Given the description of an element on the screen output the (x, y) to click on. 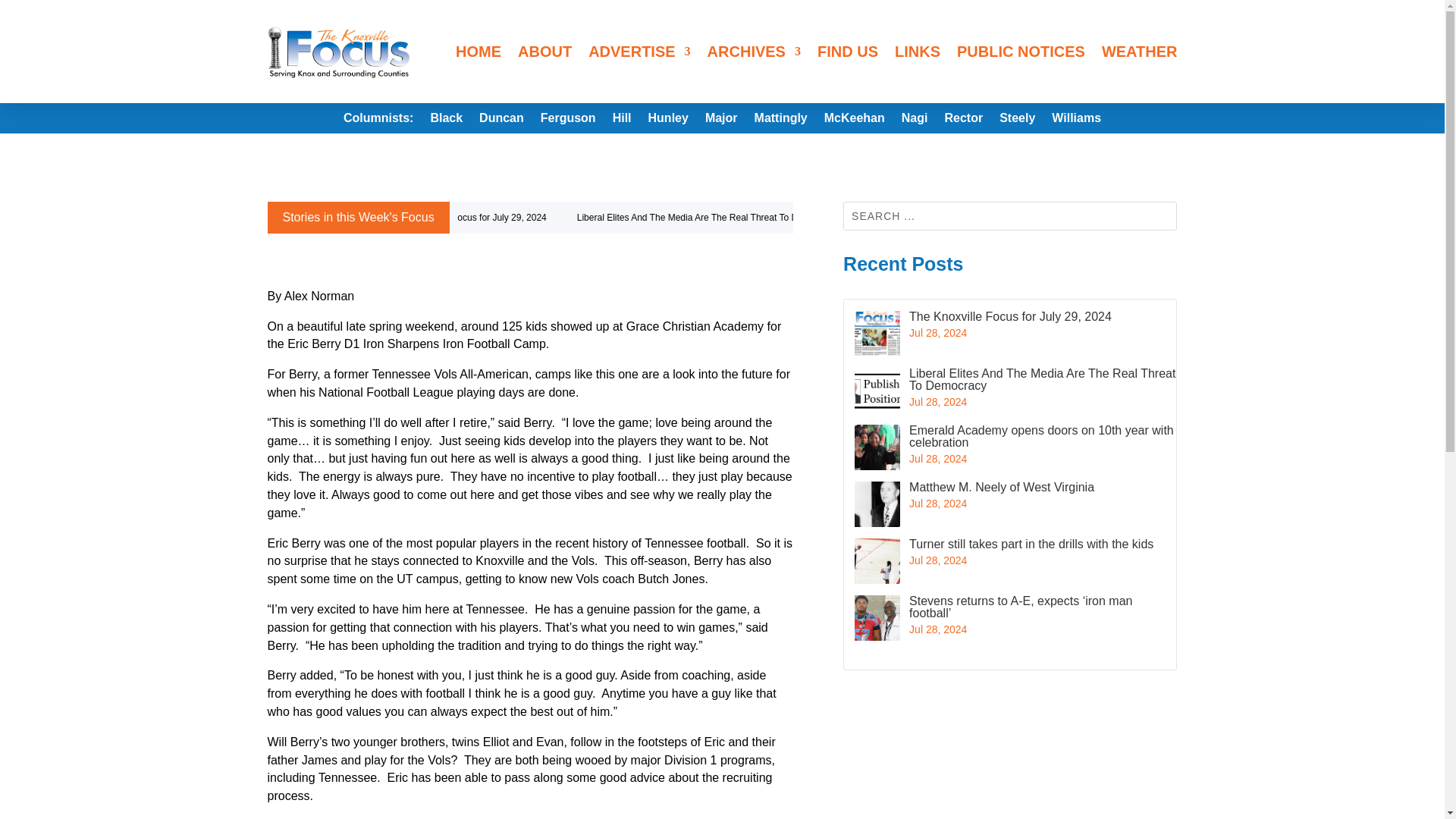
Columnists: (378, 121)
ARCHIVES (753, 51)
Mattingly (781, 121)
Major (721, 121)
McKeehan (854, 121)
Williams (1075, 121)
ABOUT (545, 51)
PUBLIC NOTICES (1020, 51)
Hill (621, 121)
FIND US (846, 51)
Rector (962, 121)
Hunley (667, 121)
Duncan (501, 121)
Black (446, 121)
Nagi (914, 121)
